Given the description of an element on the screen output the (x, y) to click on. 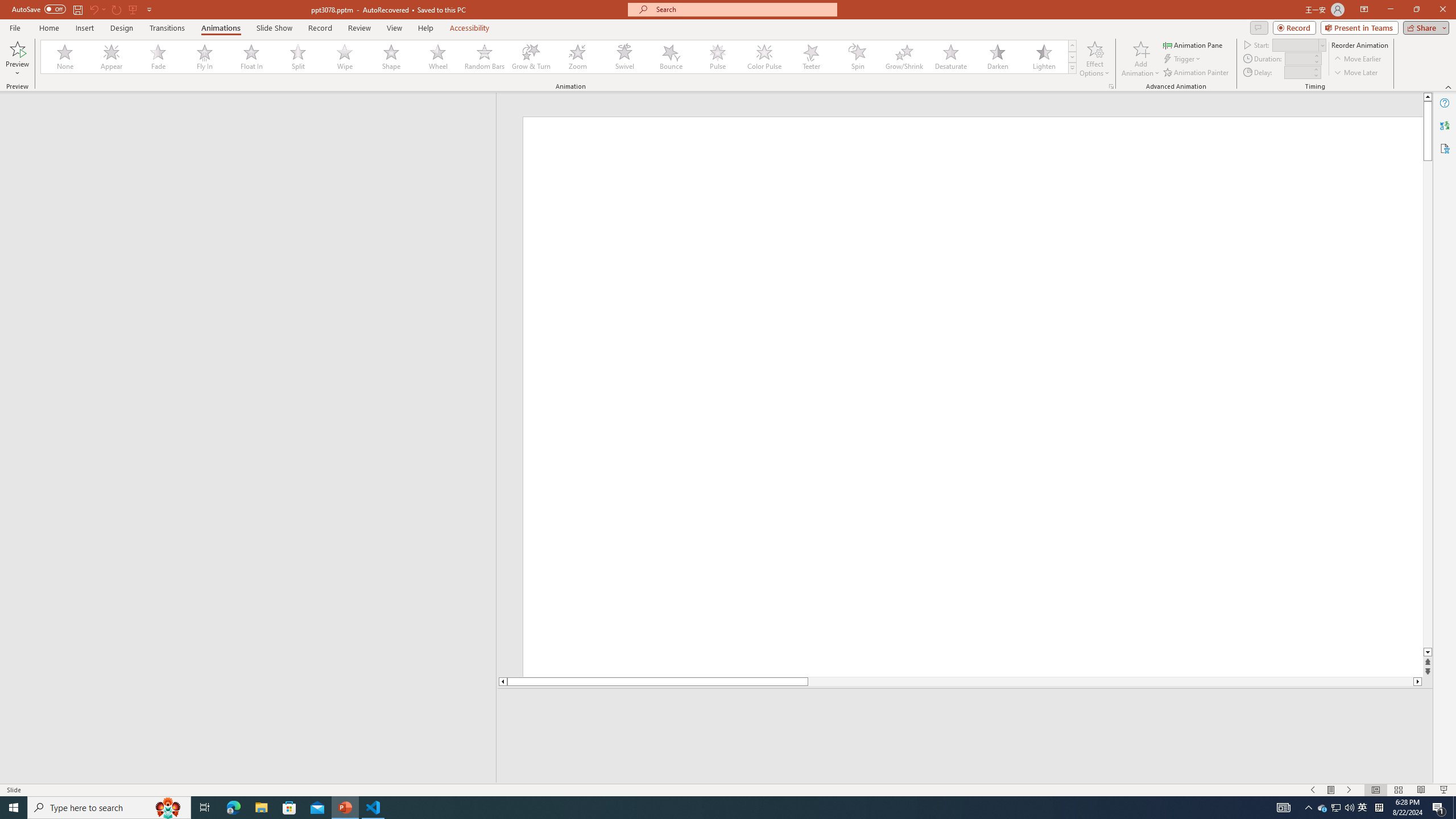
Color Pulse (764, 56)
AutomationID: AnimationGallery (558, 56)
Darken (997, 56)
Menu On (1331, 790)
Animation Painter (1196, 72)
Pulse (717, 56)
